Given the description of an element on the screen output the (x, y) to click on. 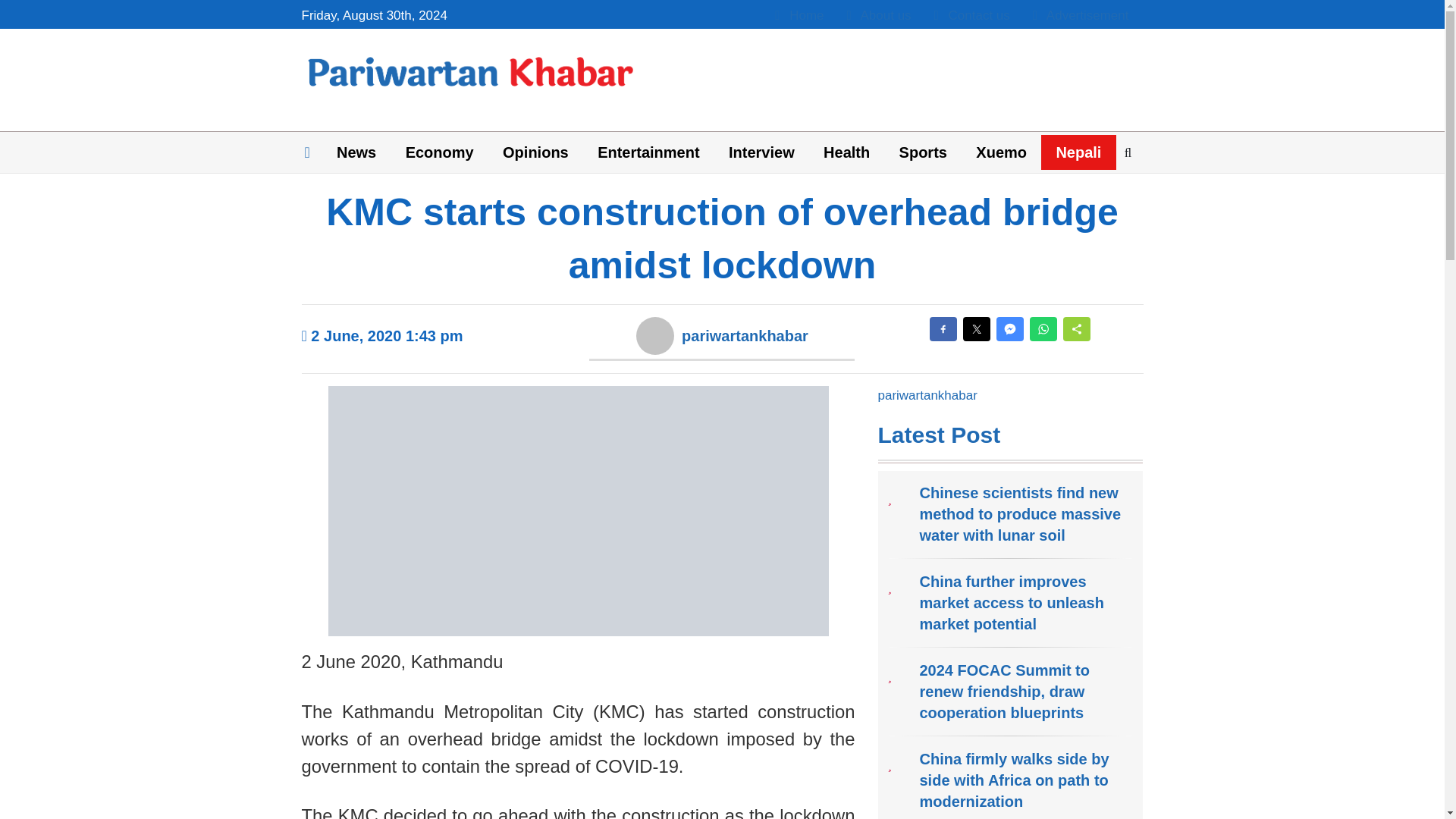
Contact us (972, 15)
Interview (761, 152)
Sports (921, 152)
Nepali (1078, 152)
Opinions (535, 152)
Advertisement (1081, 15)
